Given the description of an element on the screen output the (x, y) to click on. 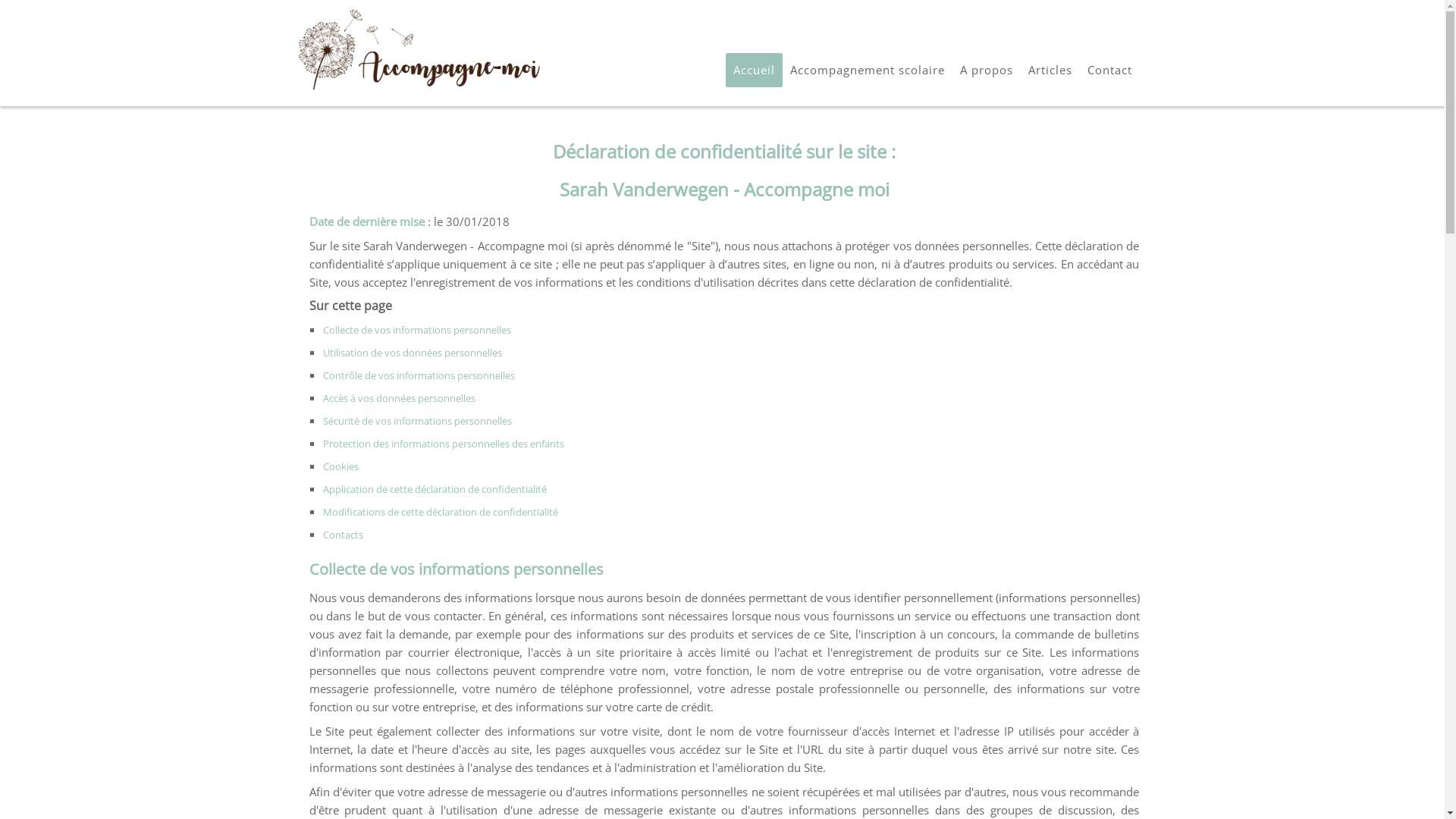
Protection des informations personnelles des enfants Element type: text (443, 442)
Accueil Element type: text (752, 70)
Accompagnement scolaire Element type: text (867, 70)
Contact Element type: text (1109, 70)
Articles Element type: text (1049, 70)
Cookies Element type: text (340, 465)
Collecte de vos informations personnelles Element type: text (417, 328)
Contacts Element type: text (343, 533)
A propos Element type: text (986, 70)
Sarah Vanderwegen - Accompagne moi Element type: hover (419, 46)
